Given the description of an element on the screen output the (x, y) to click on. 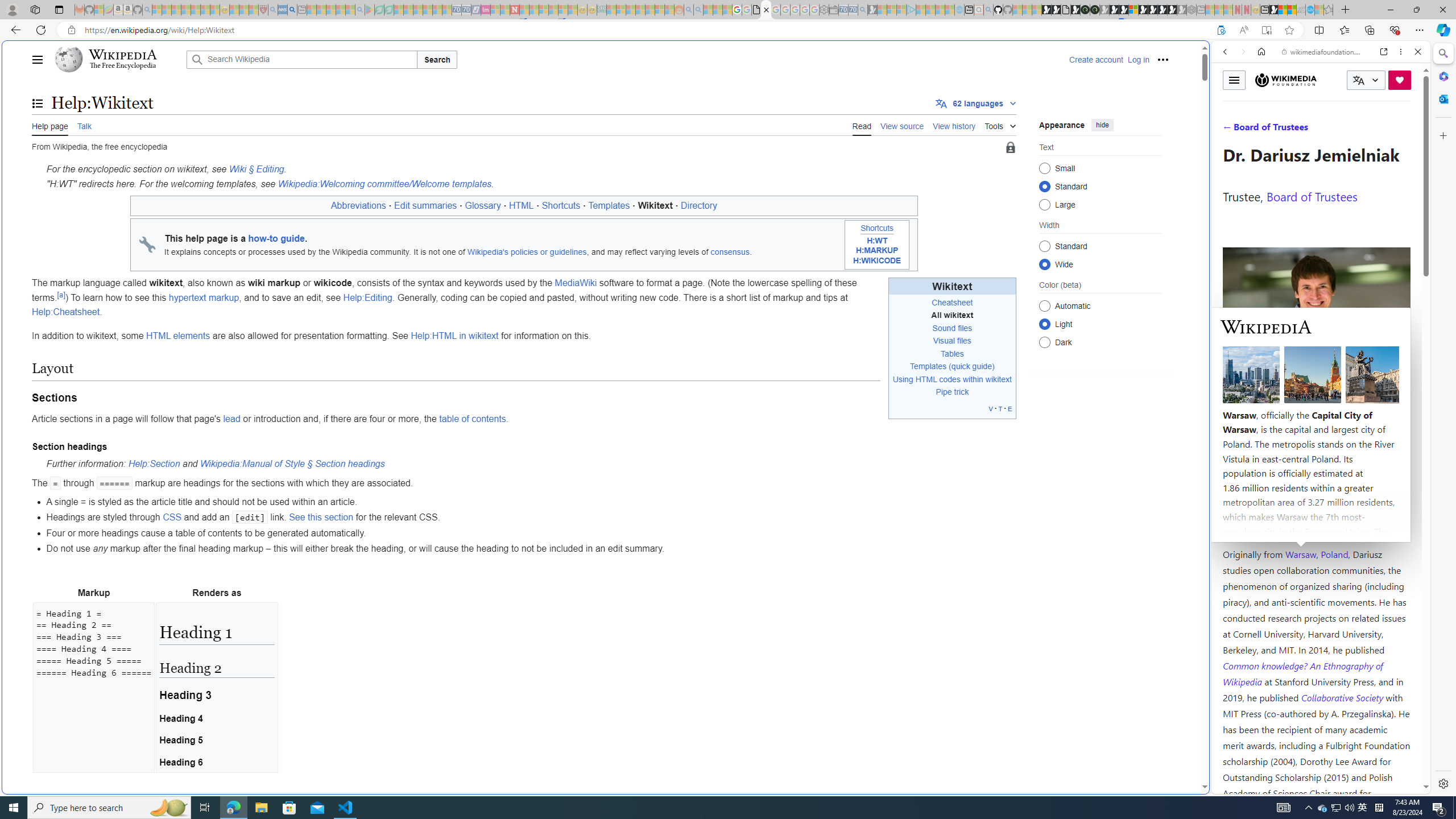
Actions for this site (1370, 583)
lead (231, 418)
Page semi-protected (1010, 147)
Help:Section (154, 463)
Board of Trustees (1311, 195)
Trusted Community Engagement and Contributions | Guidelines (524, 9)
Search the web (1326, 78)
Robert H. Shmerling, MD - Harvard Health - Sleeping (263, 9)
Favorites - Sleeping (1328, 9)
Main menu (37, 59)
